Given the description of an element on the screen output the (x, y) to click on. 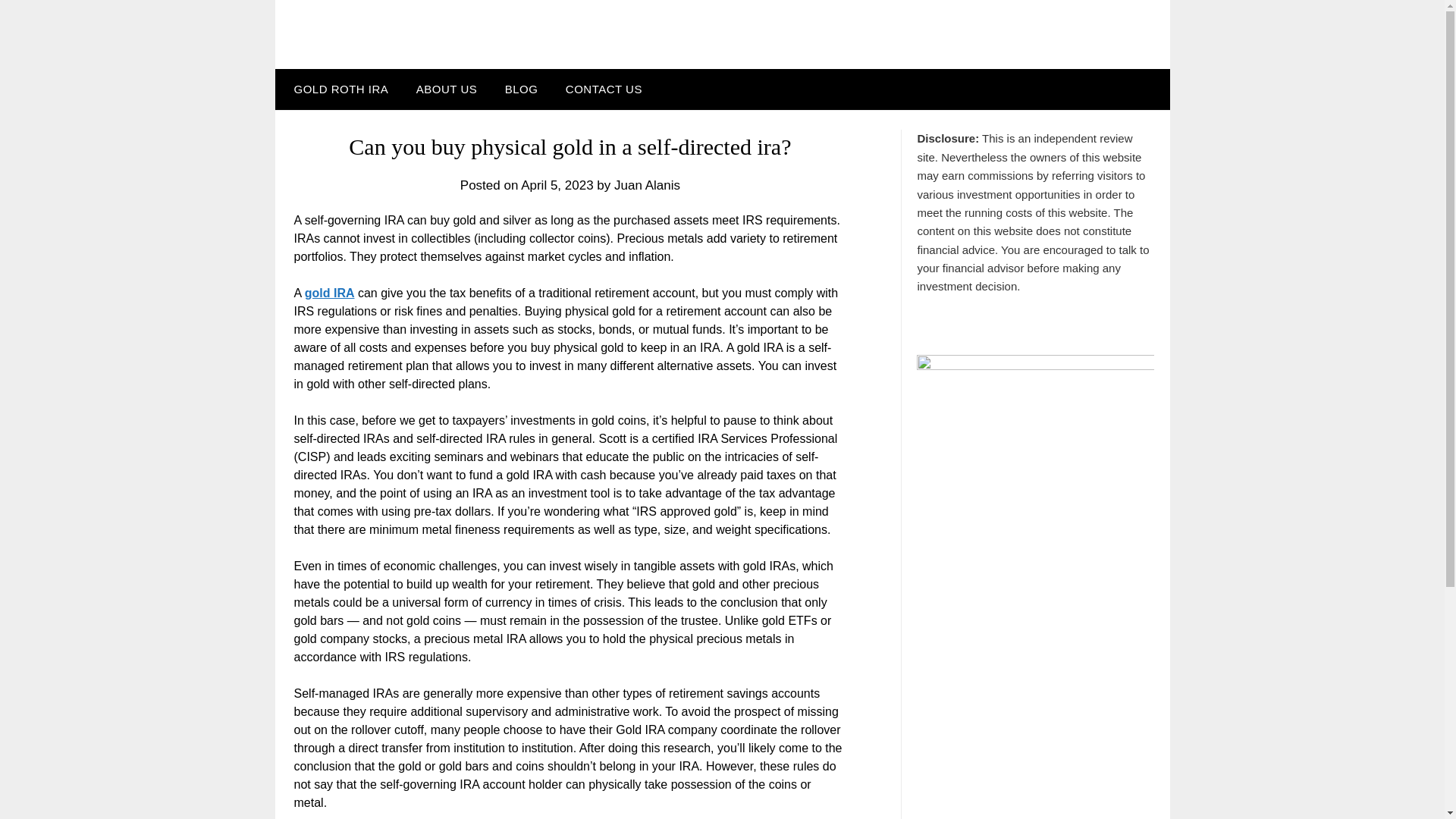
gold IRA (329, 292)
April 5, 2023 (556, 185)
CONTACT US (603, 88)
BLOG (521, 88)
ABOUT US (446, 88)
Juan Alanis (646, 185)
GOLD ROTH IRA (337, 88)
